Given the description of an element on the screen output the (x, y) to click on. 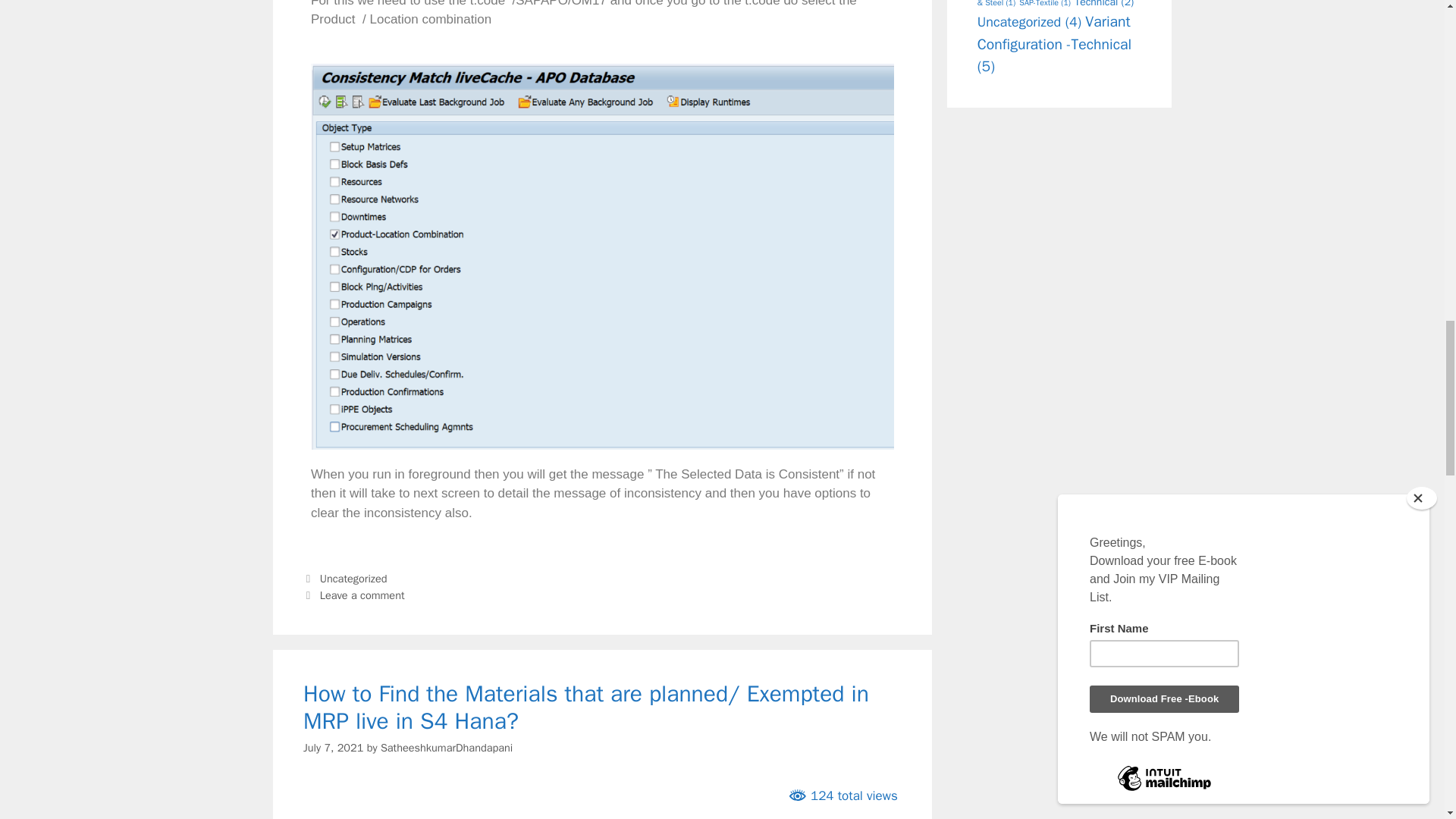
Leave a comment (362, 594)
July 7, 2021 (332, 747)
SatheeshkumarDhandapani (446, 747)
View all posts by SatheeshkumarDhandapani (446, 747)
8:50 pm (332, 747)
Uncategorized (353, 578)
